Given the description of an element on the screen output the (x, y) to click on. 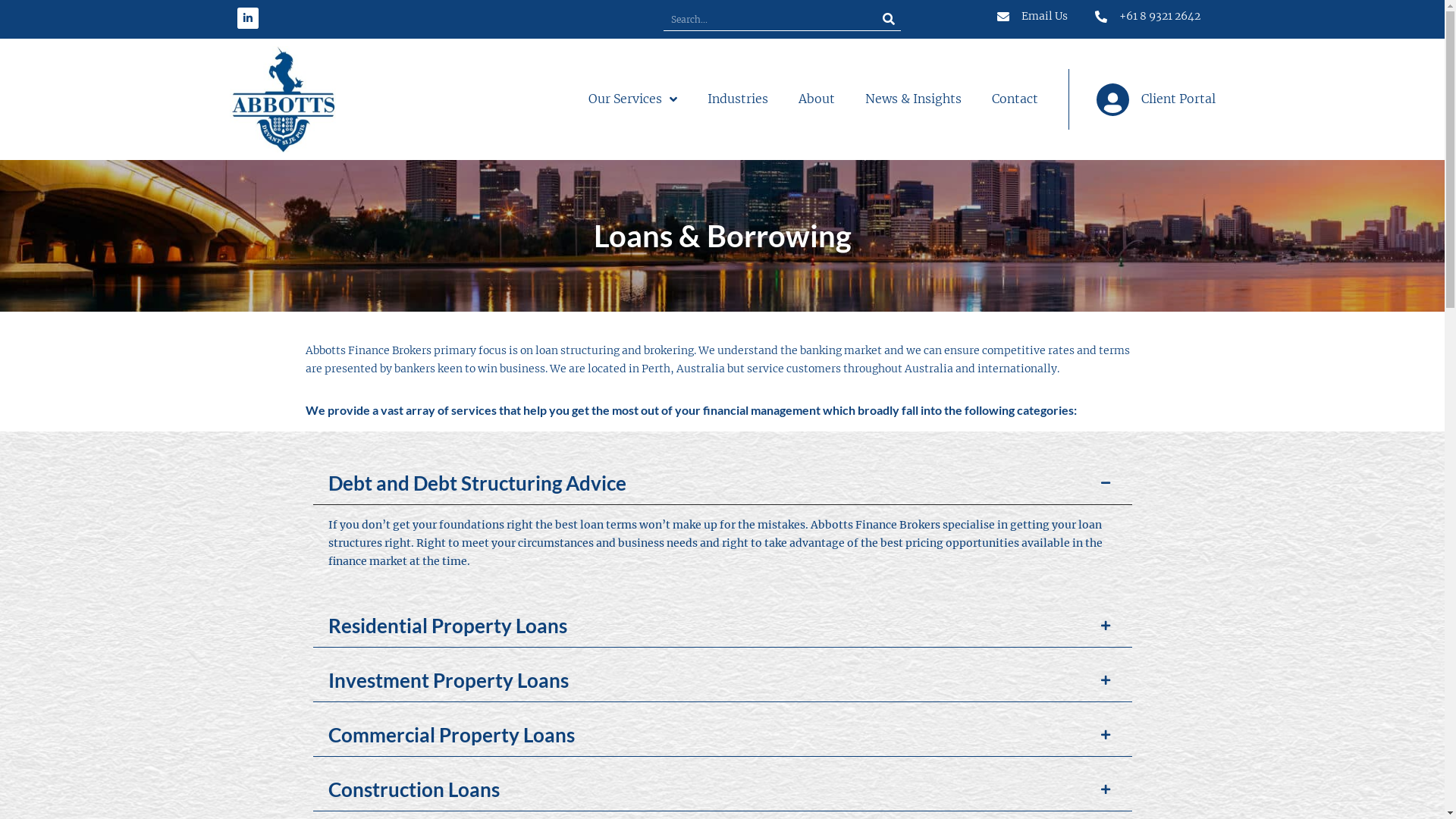
Industries Element type: text (737, 99)
About Element type: text (816, 99)
+61 8 9321 2642 Element type: text (1146, 16)
Email Us Element type: text (1030, 16)
Contact Element type: text (1014, 99)
News & Insights Element type: text (913, 99)
Our Services Element type: text (632, 99)
Client Portal Element type: text (1141, 99)
